Given the description of an element on the screen output the (x, y) to click on. 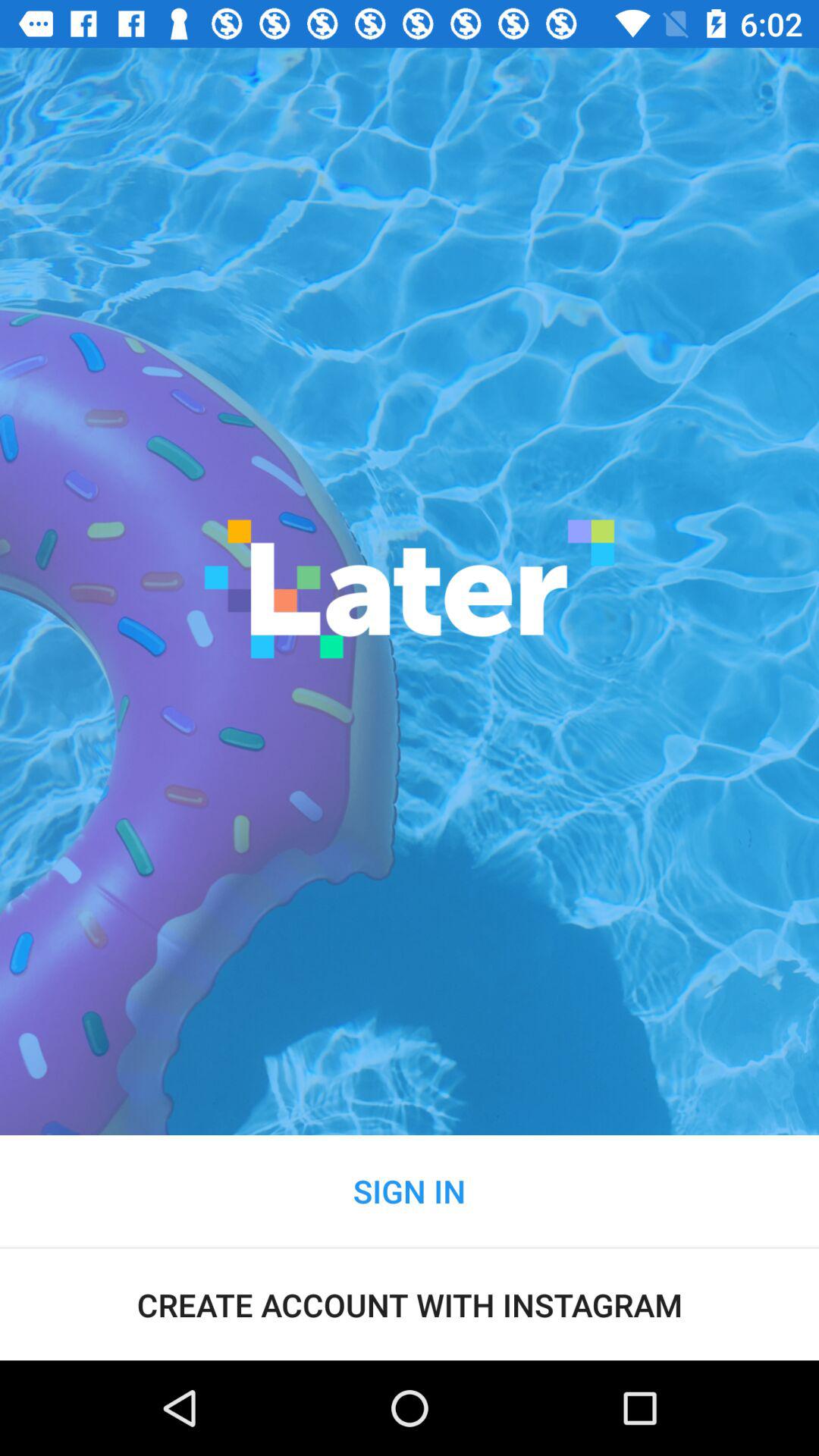
open the sign in (409, 1190)
